Given the description of an element on the screen output the (x, y) to click on. 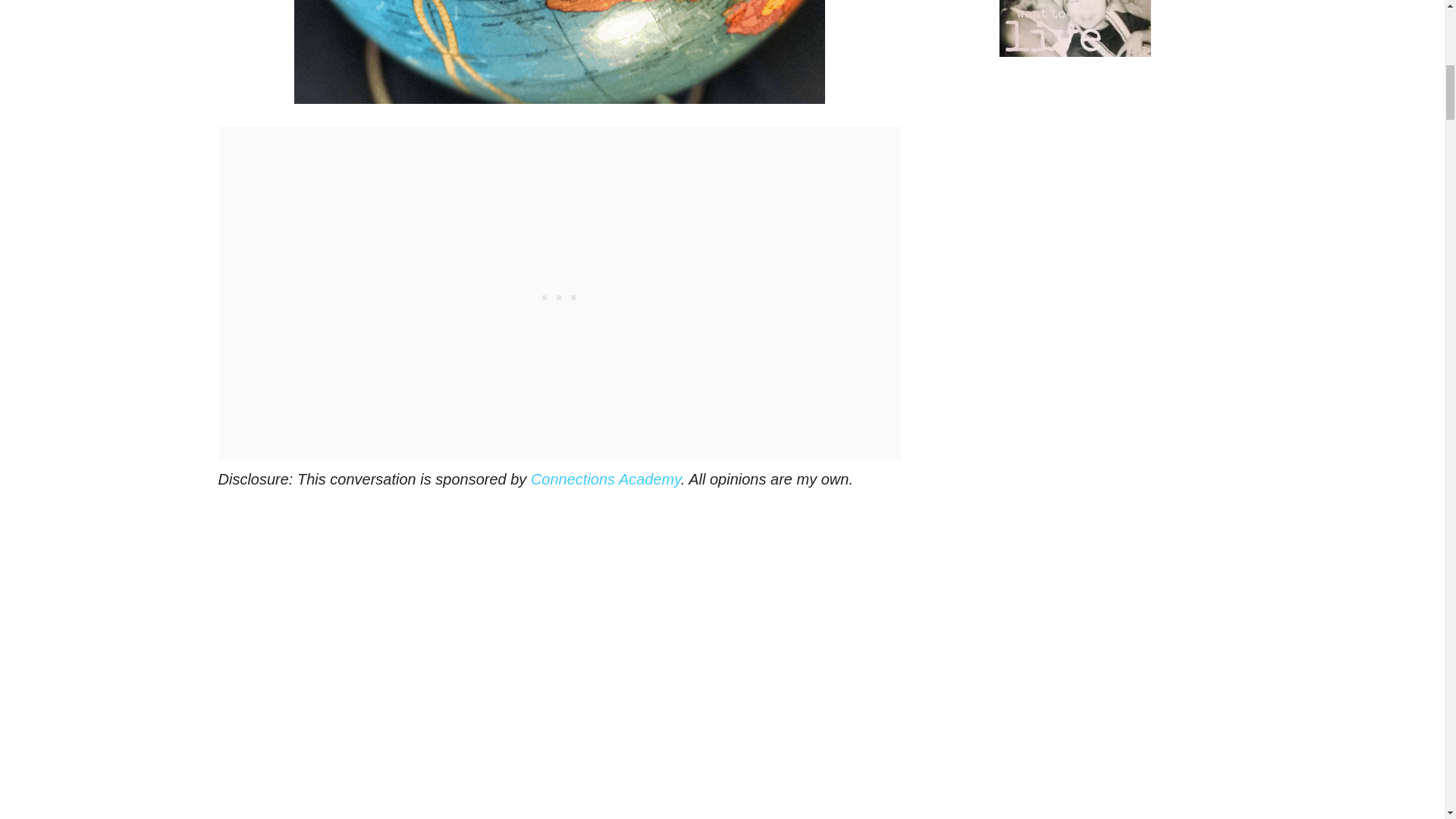
Connections Academy (606, 478)
xwhy-death-cover-e1416240199623.jpg.pagespeed.ic.4E0VfghJsT (1074, 28)
